Given the description of an element on the screen output the (x, y) to click on. 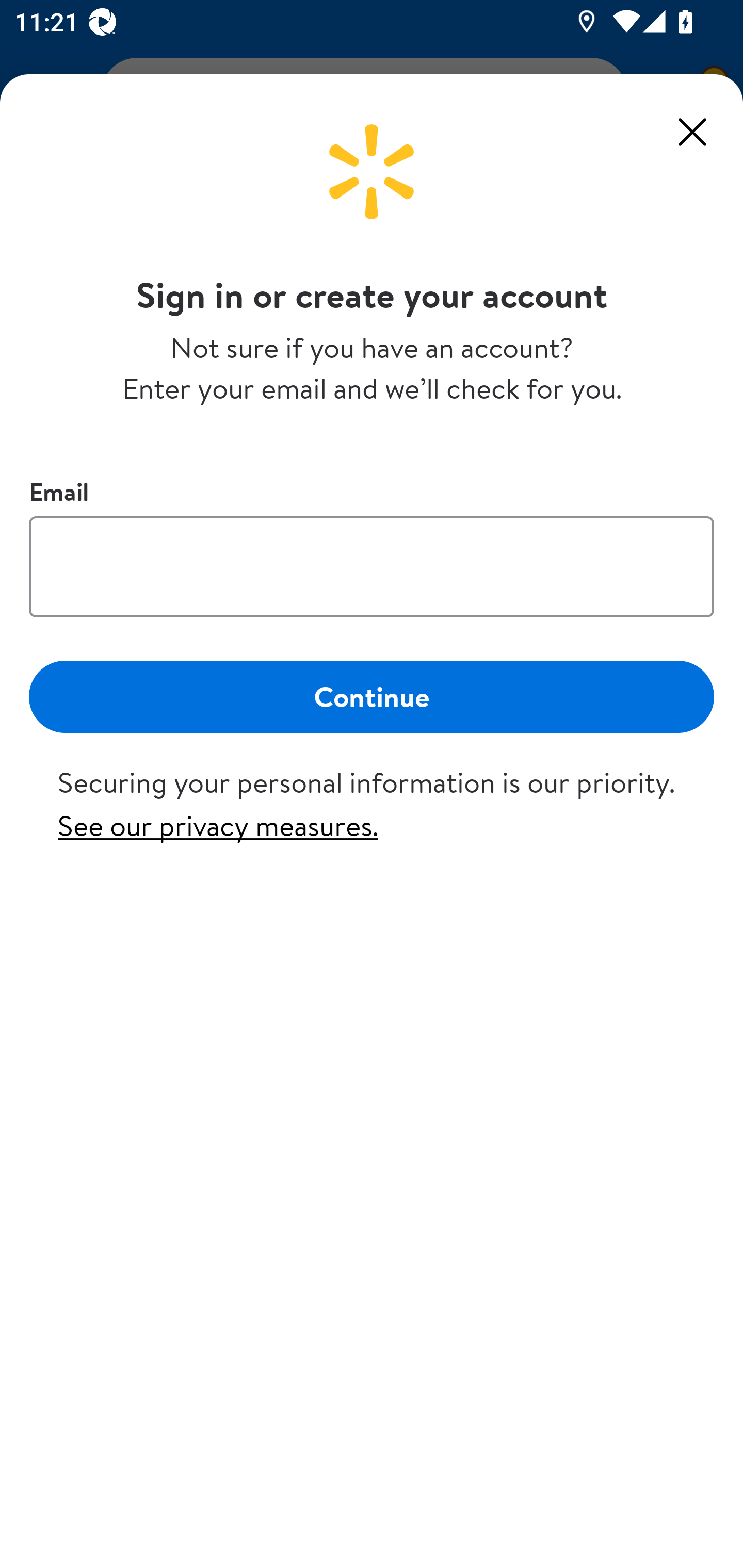
Close (692, 131)
Email (371, 566)
Continue (371, 696)
